Given the description of an element on the screen output the (x, y) to click on. 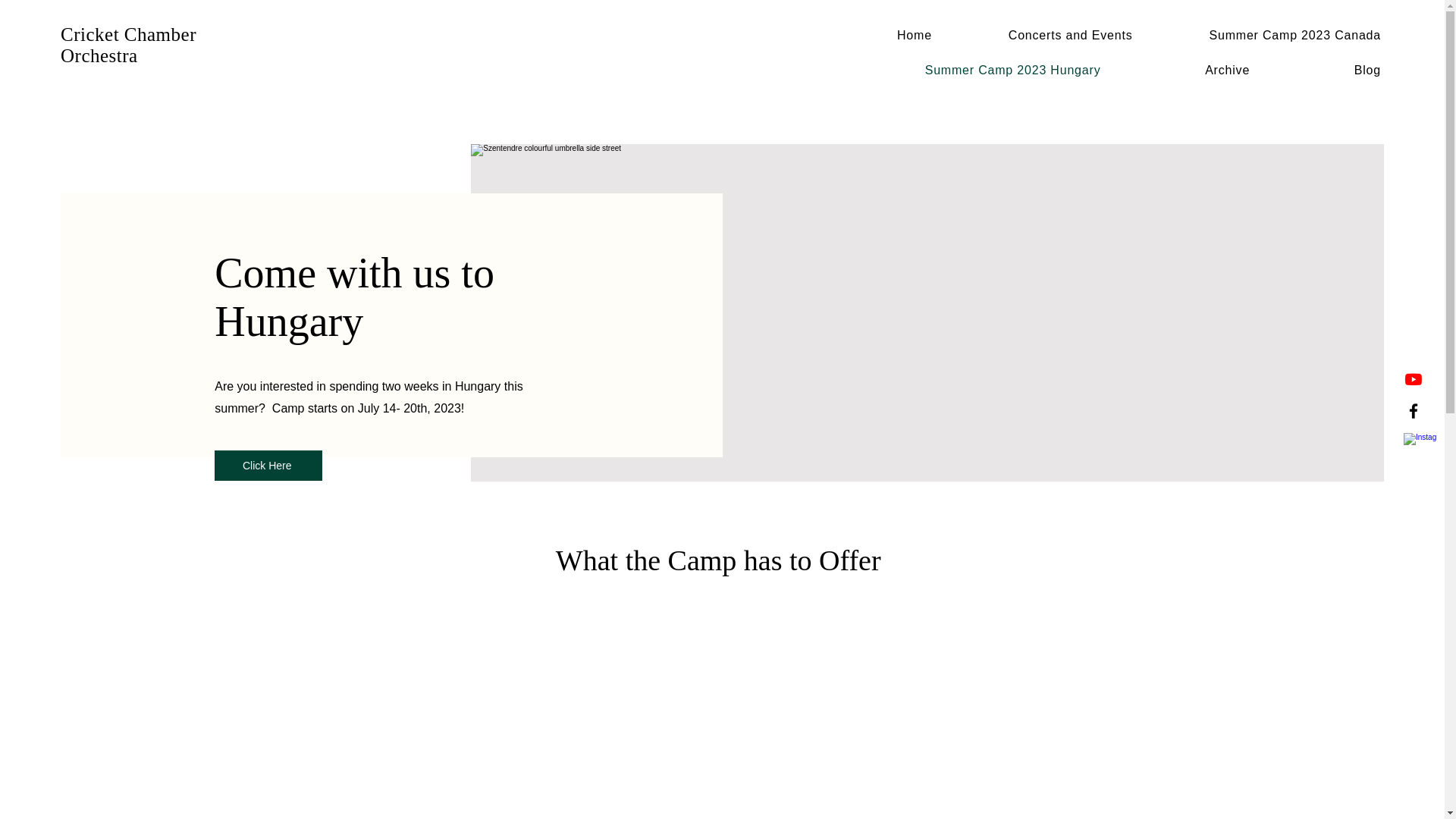
Home (886, 35)
Archive (1185, 70)
Summer Camp 2023 Hungary (971, 70)
Cricket Chamber Orchestra  (128, 45)
Concerts and Events (1042, 35)
Summer Camp 2023 Canada (1268, 35)
Blog (1326, 70)
Click Here (267, 465)
